Given the description of an element on the screen output the (x, y) to click on. 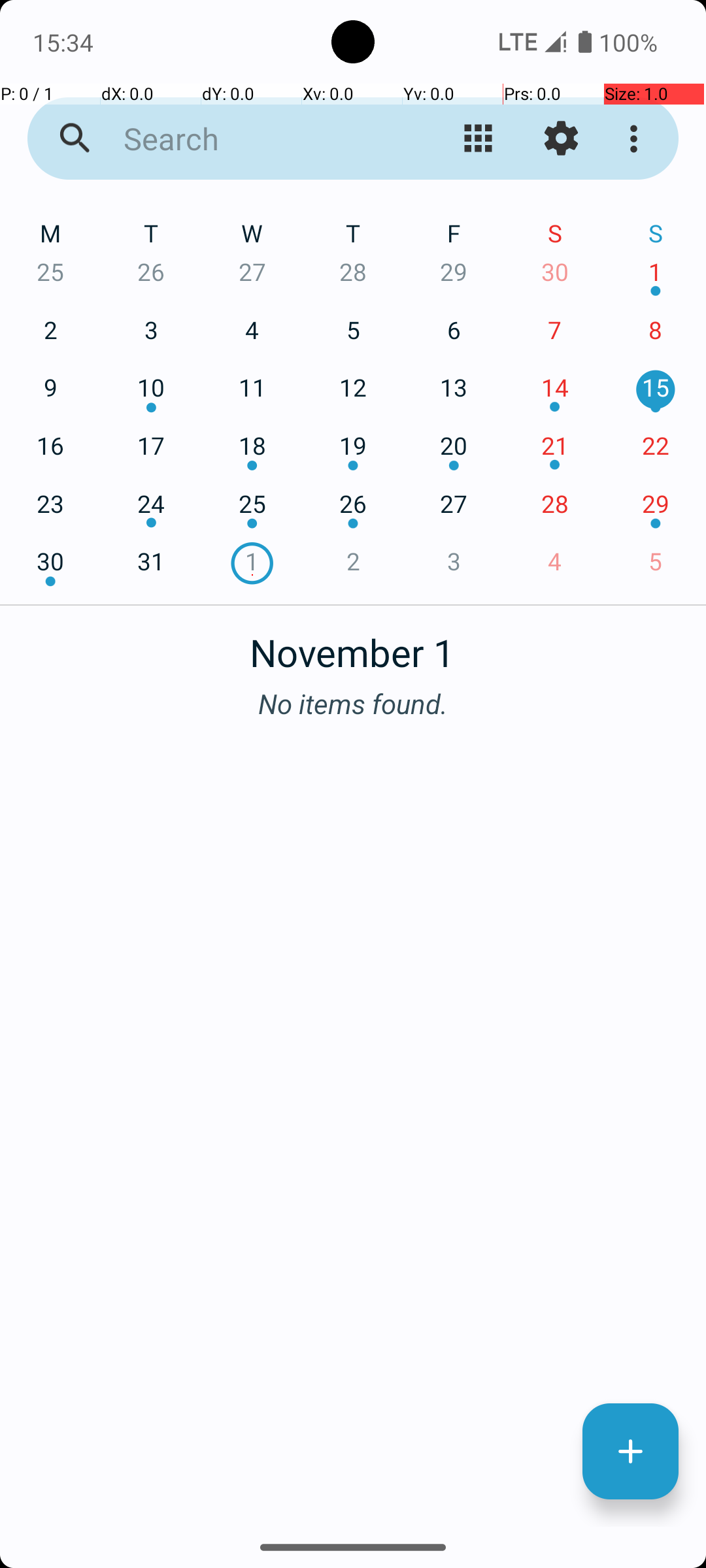
November 1 Element type: android.widget.TextView (352, 644)
